Given the description of an element on the screen output the (x, y) to click on. 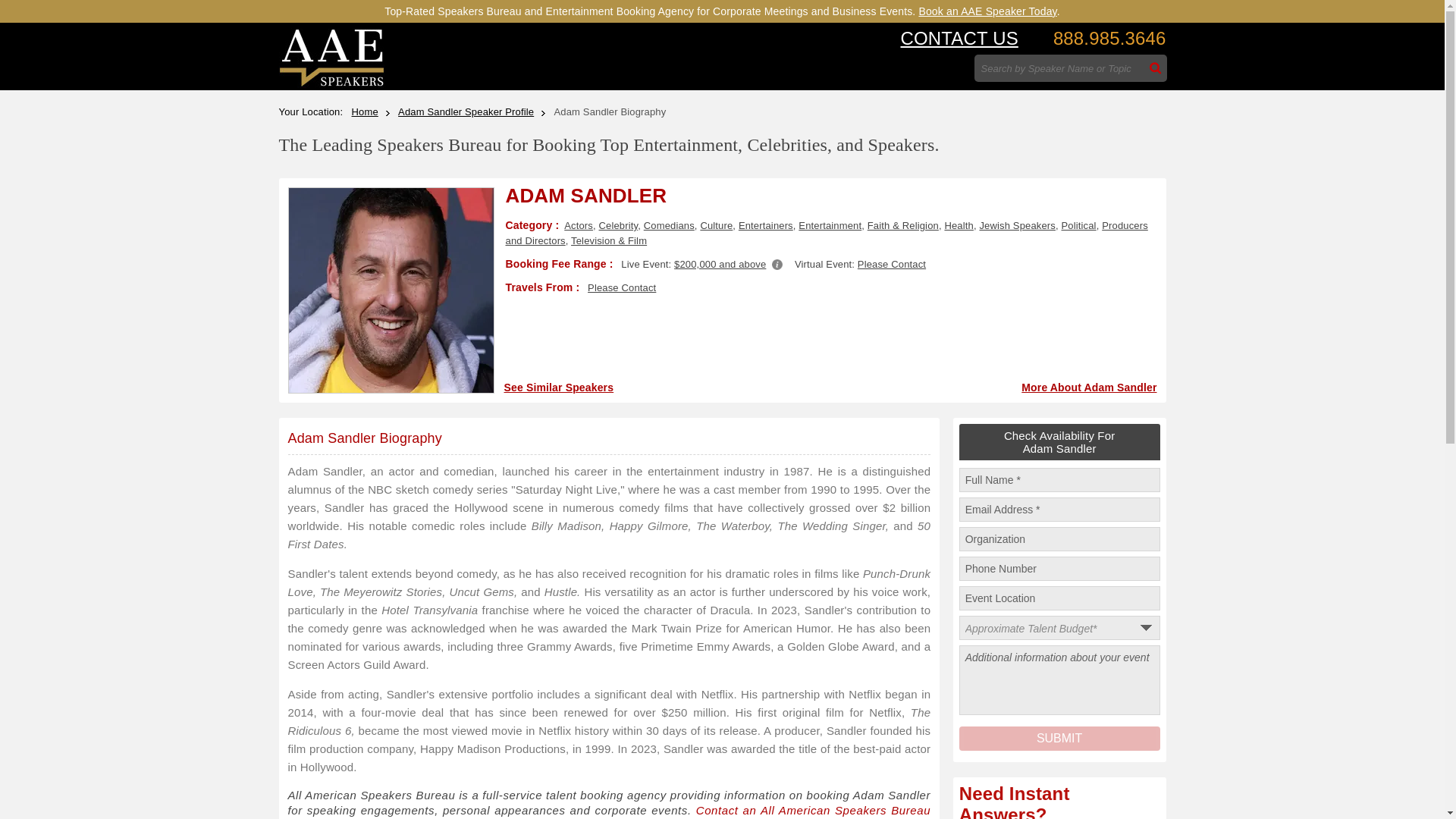
Adam Sandler Biography (365, 437)
SUBMIT (1059, 738)
Actors (578, 225)
Book an AAE Speaker Today (987, 10)
Please Contact (891, 264)
Contact an All American Speakers Bureau booking agent (609, 811)
Health (957, 225)
See Similar Speakers (557, 387)
Entertainers (765, 225)
Speakers Bureau (331, 83)
Search (1155, 68)
Culture (716, 225)
Celebrity (618, 225)
CONTACT US (959, 38)
Home (371, 111)
